Given the description of an element on the screen output the (x, y) to click on. 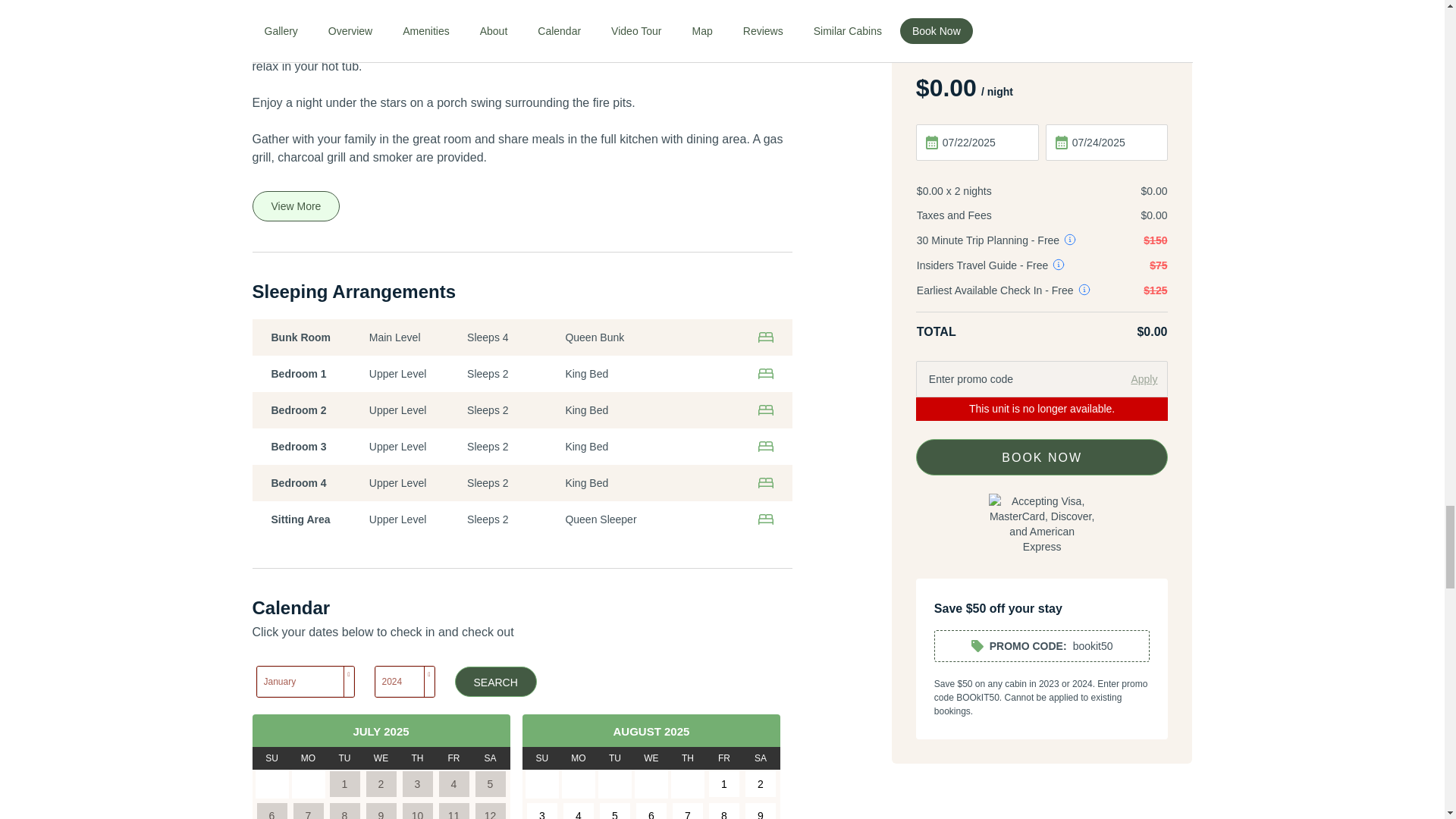
Unavailable (489, 784)
Send (1042, 805)
Unavailable (416, 784)
Unavailable (307, 809)
Unavailable (380, 784)
Unavailable (271, 809)
Thursday (416, 757)
Friday (453, 757)
Monday (308, 757)
Tuesday (343, 757)
Wednesday (381, 757)
Unavailable (344, 784)
Unavailable (453, 784)
Saturday (489, 757)
Sunday (271, 757)
